Given the description of an element on the screen output the (x, y) to click on. 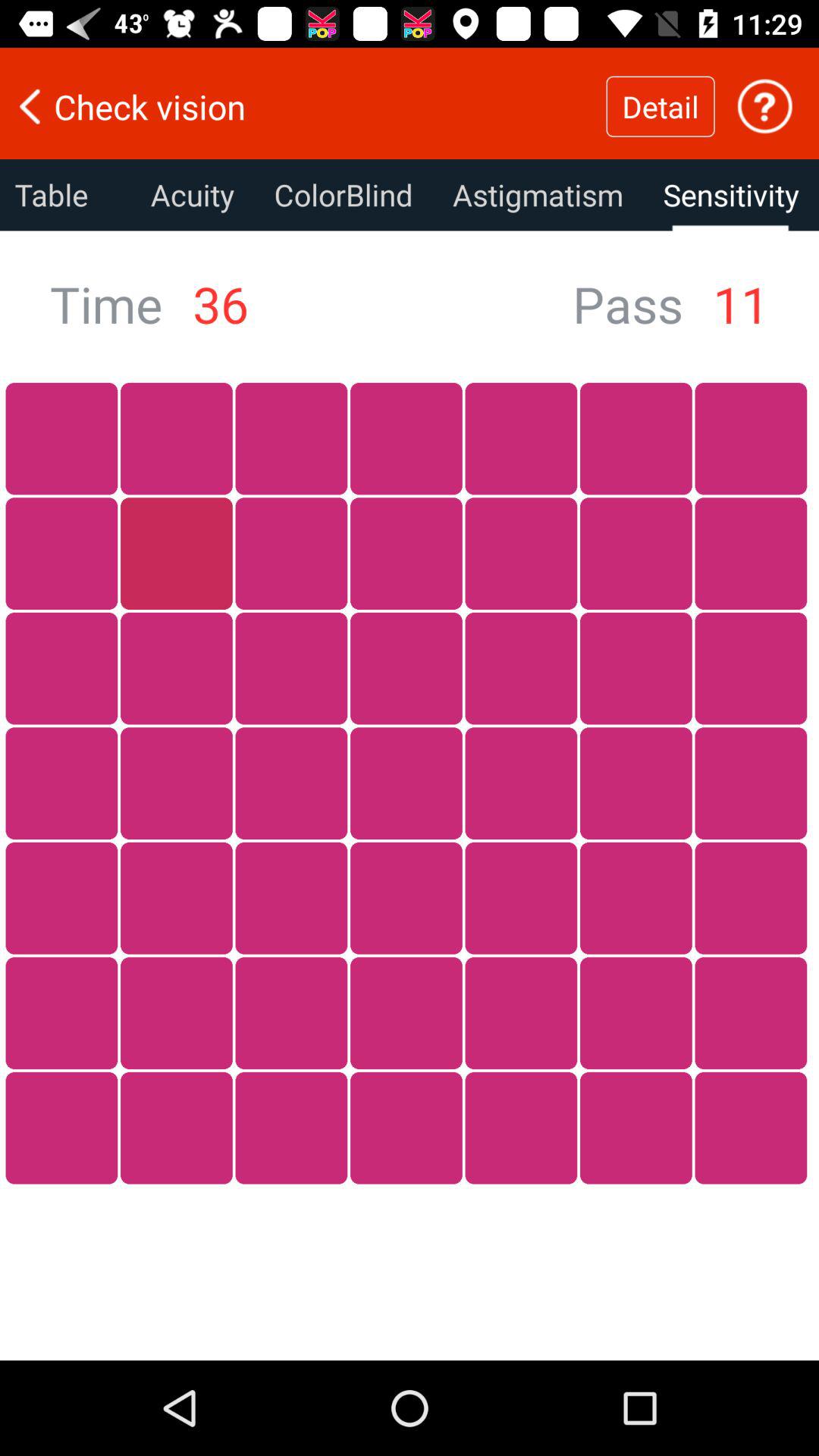
turn off item above the 35 icon (343, 194)
